Given the description of an element on the screen output the (x, y) to click on. 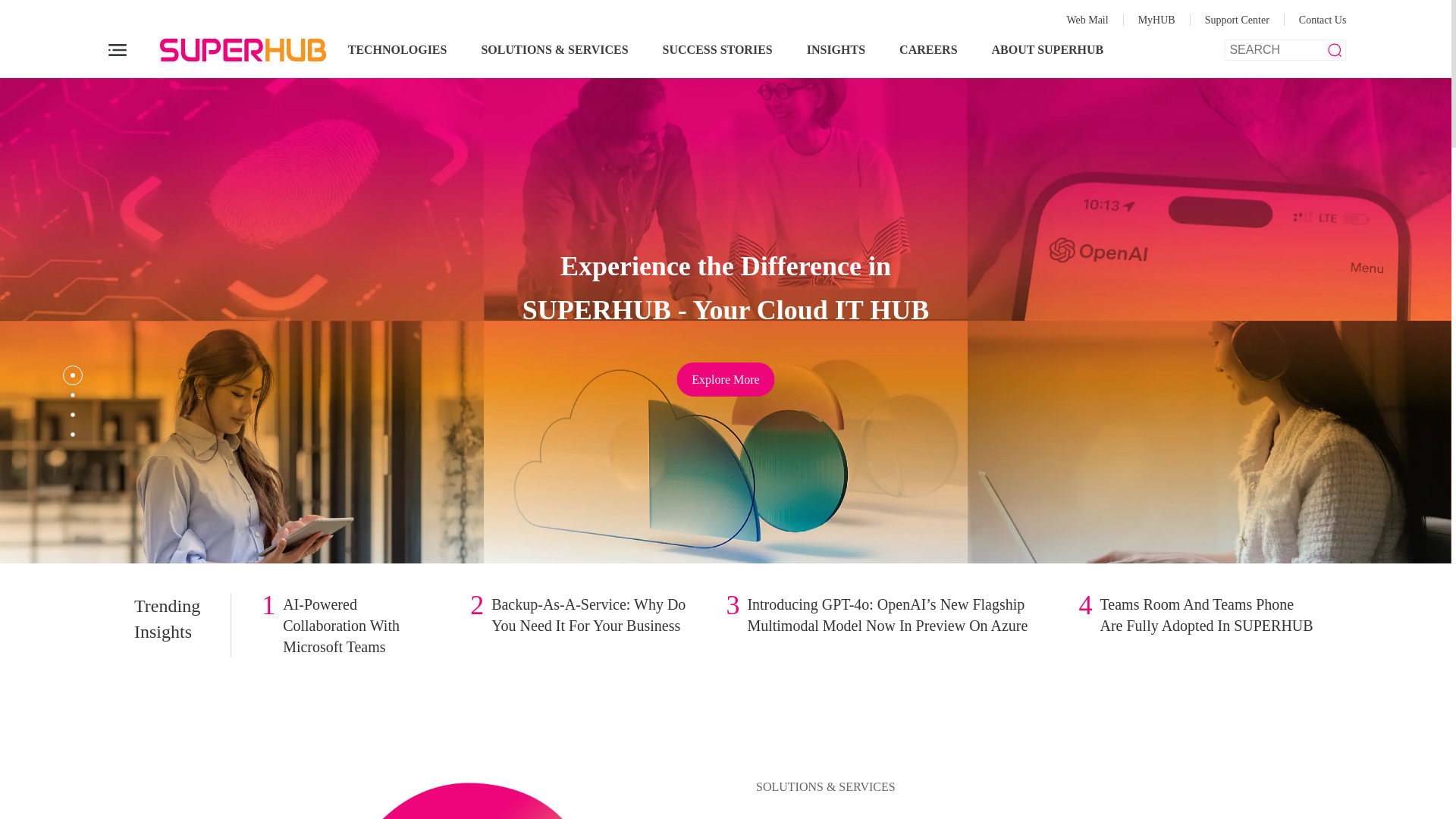
Web Mail (1086, 19)
ABOUT SUPERHUB (1047, 49)
Contact Us (1322, 19)
SUCCESS STORIES (717, 49)
Search (21, 9)
INSIGHTS (835, 49)
TECHNOLOGIES (396, 49)
CAREERS (927, 49)
MyHUB (1156, 19)
Support Center (1237, 19)
